Given the description of an element on the screen output the (x, y) to click on. 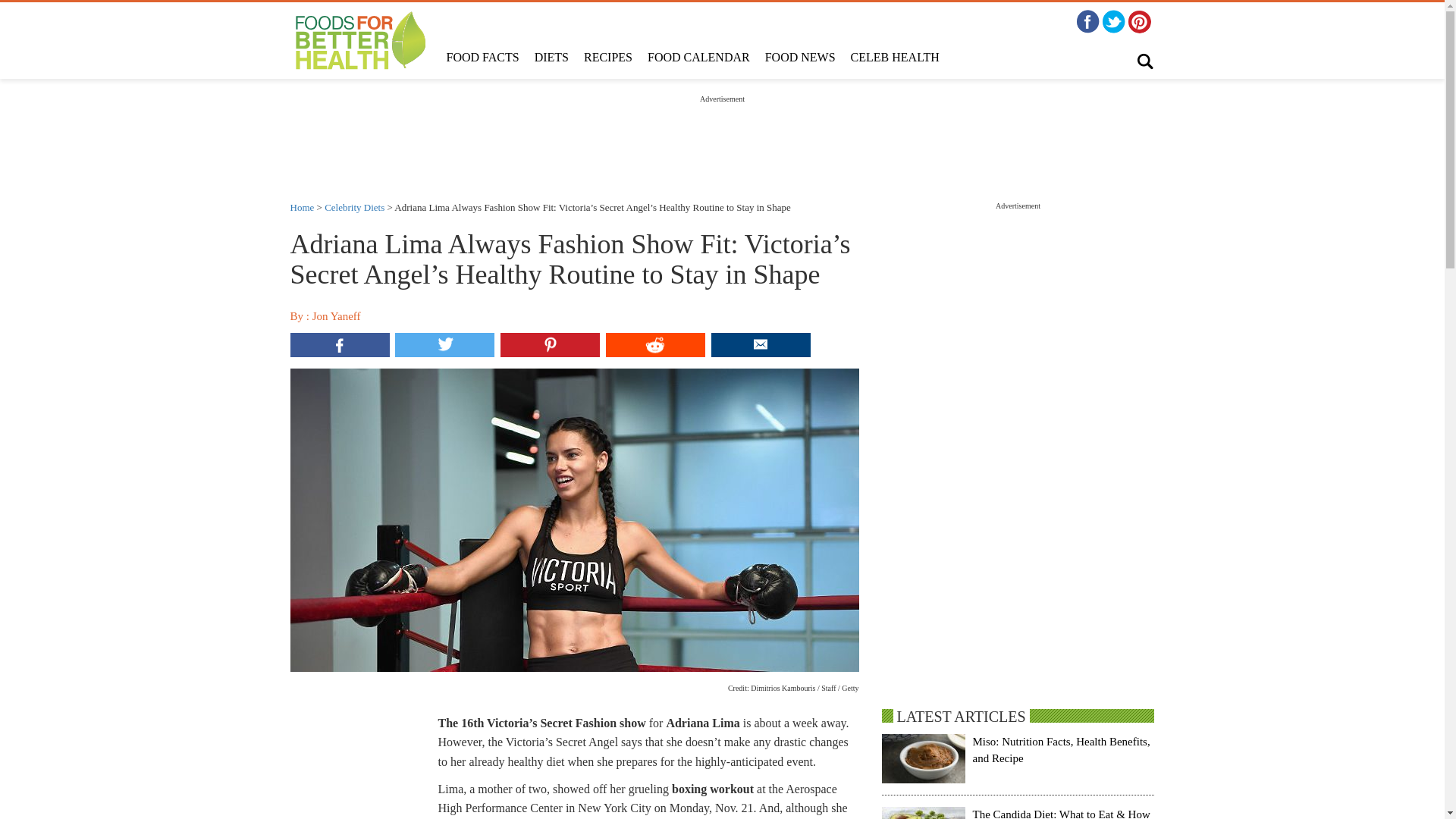
RECIPES (608, 57)
Home (301, 206)
FOOD CALENDAR (698, 57)
Celebrity Diets (354, 206)
FOOD NEWS (800, 57)
CELEB HEALTH (895, 57)
DIETS (551, 57)
Miso: Nutrition Facts, Health Benefits, and Recipe (1061, 749)
FOOD FACTS (481, 57)
Posts by Jon Yaneff (337, 316)
